Given the description of an element on the screen output the (x, y) to click on. 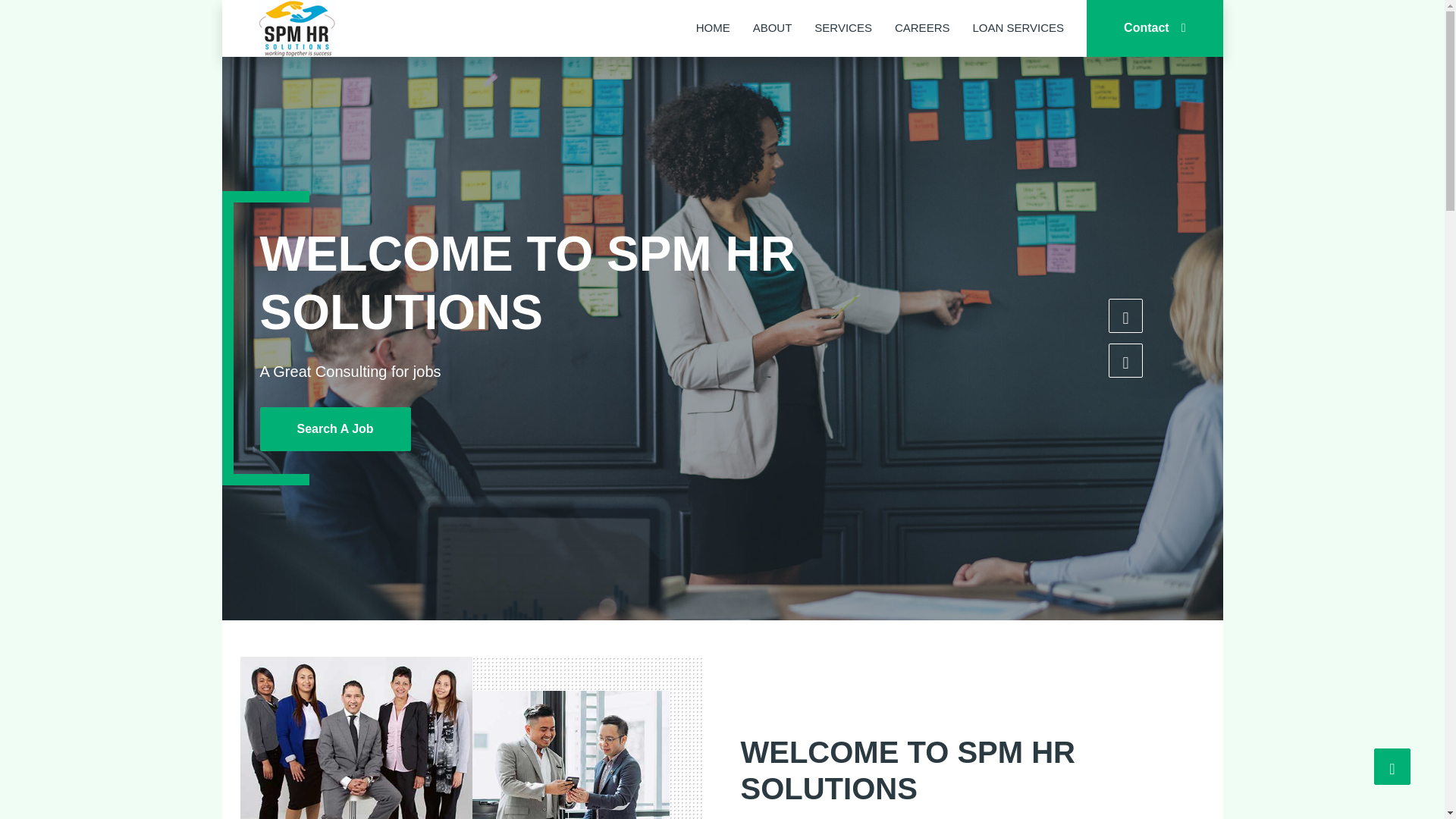
Contact (1154, 28)
LOAN SERVICES (1018, 28)
Search A Job (302, 429)
CAREERS (922, 28)
SERVICES (842, 28)
